Given the description of an element on the screen output the (x, y) to click on. 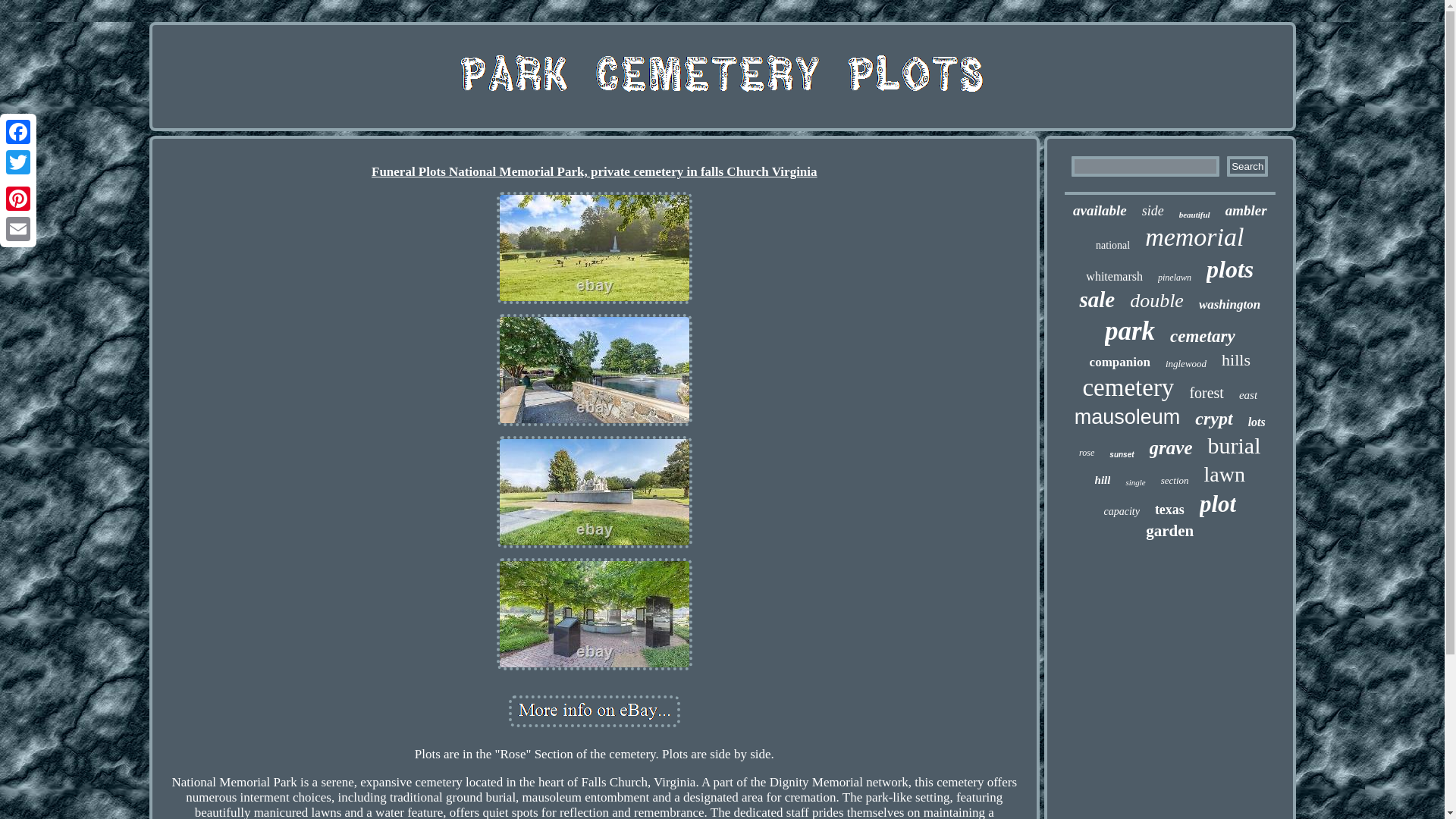
Search (1247, 166)
whitemarsh (1114, 276)
pinelawn (1174, 277)
Facebook (17, 132)
sale (1096, 299)
ambler (1245, 210)
memorial (1193, 236)
Pinterest (17, 198)
available (1099, 210)
Email (17, 228)
forest (1206, 393)
washington (1229, 304)
beautiful (1194, 214)
inglewood (1186, 363)
